Given the description of an element on the screen output the (x, y) to click on. 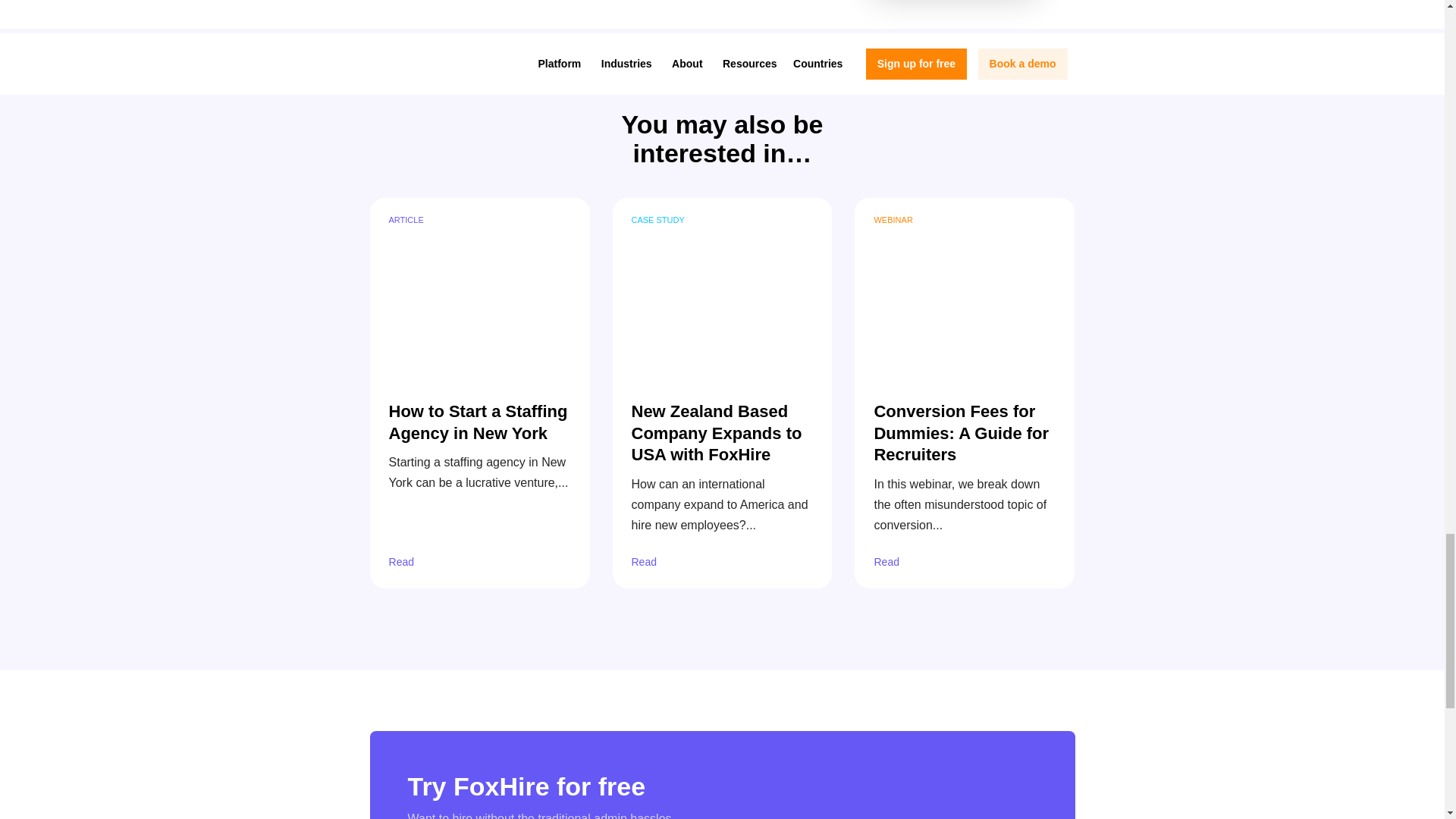
How to Start a Staffing Agency in New York (479, 286)
Conversion Fees for Dummies: A Guide for Recruiters (964, 286)
New Zealand Based Company Expands to USA with FoxHire (722, 286)
